Given the description of an element on the screen output the (x, y) to click on. 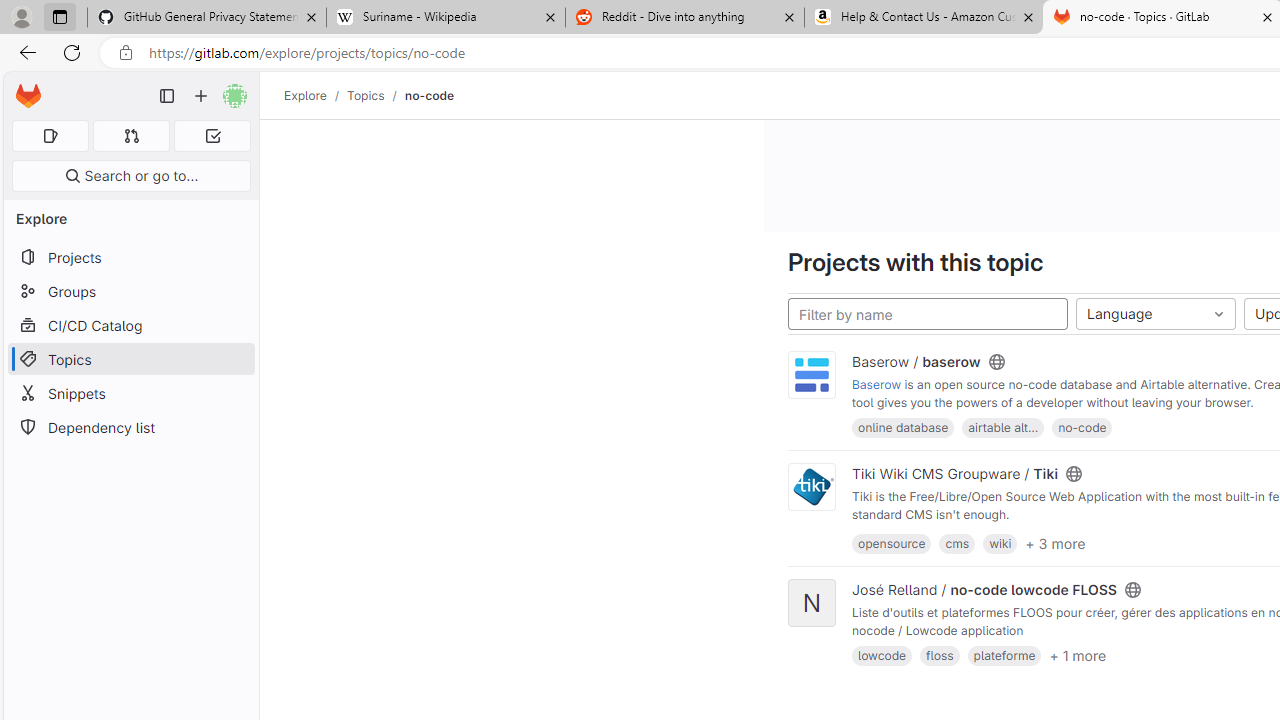
lowcode (881, 655)
CI/CD Catalog (130, 325)
opensource (891, 542)
Baserow / baserow (916, 361)
GitHub General Privacy Statement - GitHub Docs (207, 17)
Merge requests 0 (131, 136)
Snippets (130, 393)
wiki (1000, 542)
Language (1156, 314)
Tiki Wiki CMS Groupware / Tiki (955, 474)
no-code (1082, 426)
Groups (130, 291)
CI/CD Catalog (130, 325)
